Given the description of an element on the screen output the (x, y) to click on. 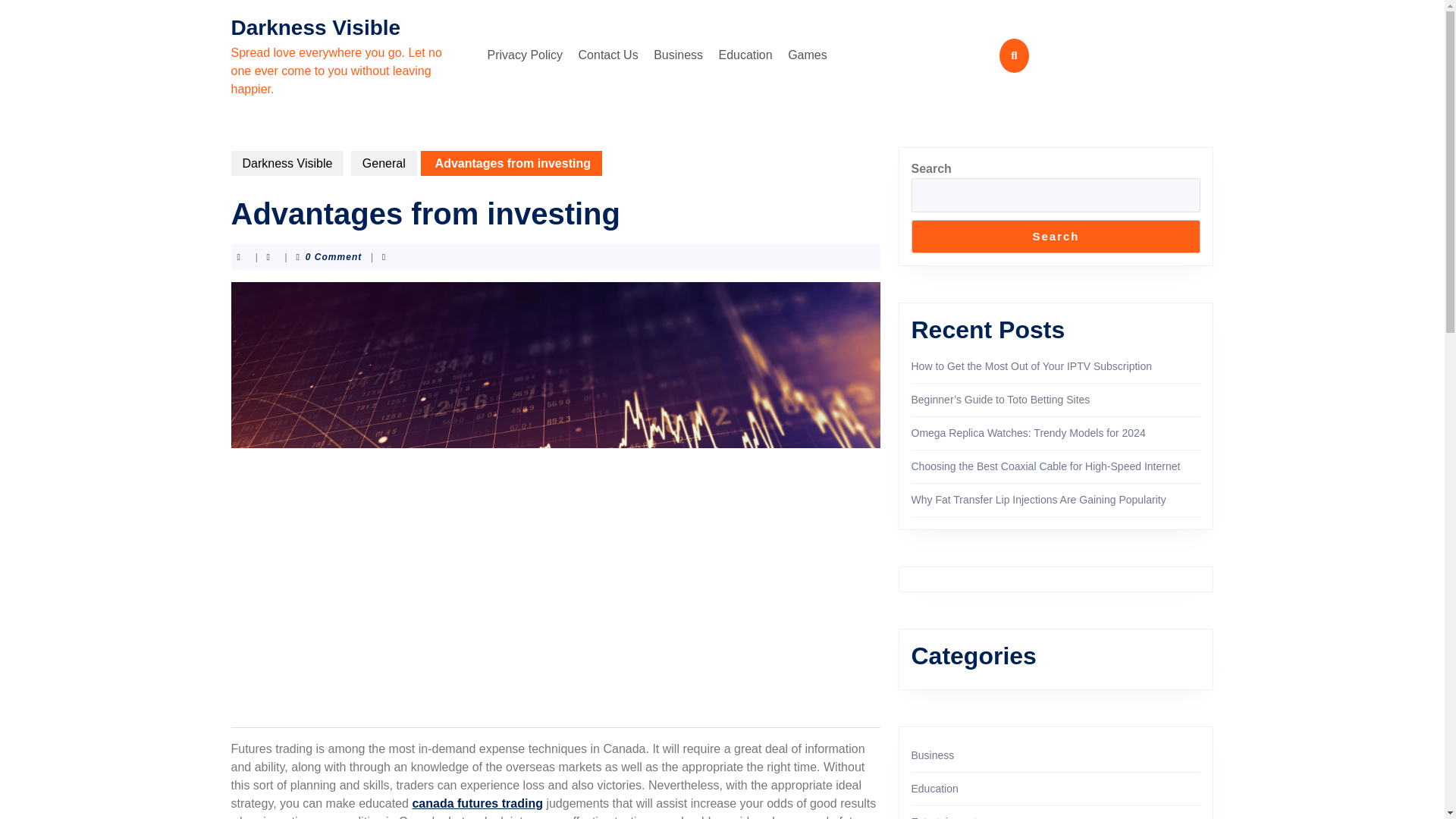
Search (1056, 236)
Entertainment (943, 817)
Privacy Policy (524, 55)
Choosing the Best Coaxial Cable for High-Speed Internet (1045, 466)
Darkness Visible (286, 163)
Contact Us (608, 55)
Games (806, 55)
Darkness Visible (315, 27)
Business (933, 755)
How to Get the Most Out of Your IPTV Subscription (1032, 366)
